Given the description of an element on the screen output the (x, y) to click on. 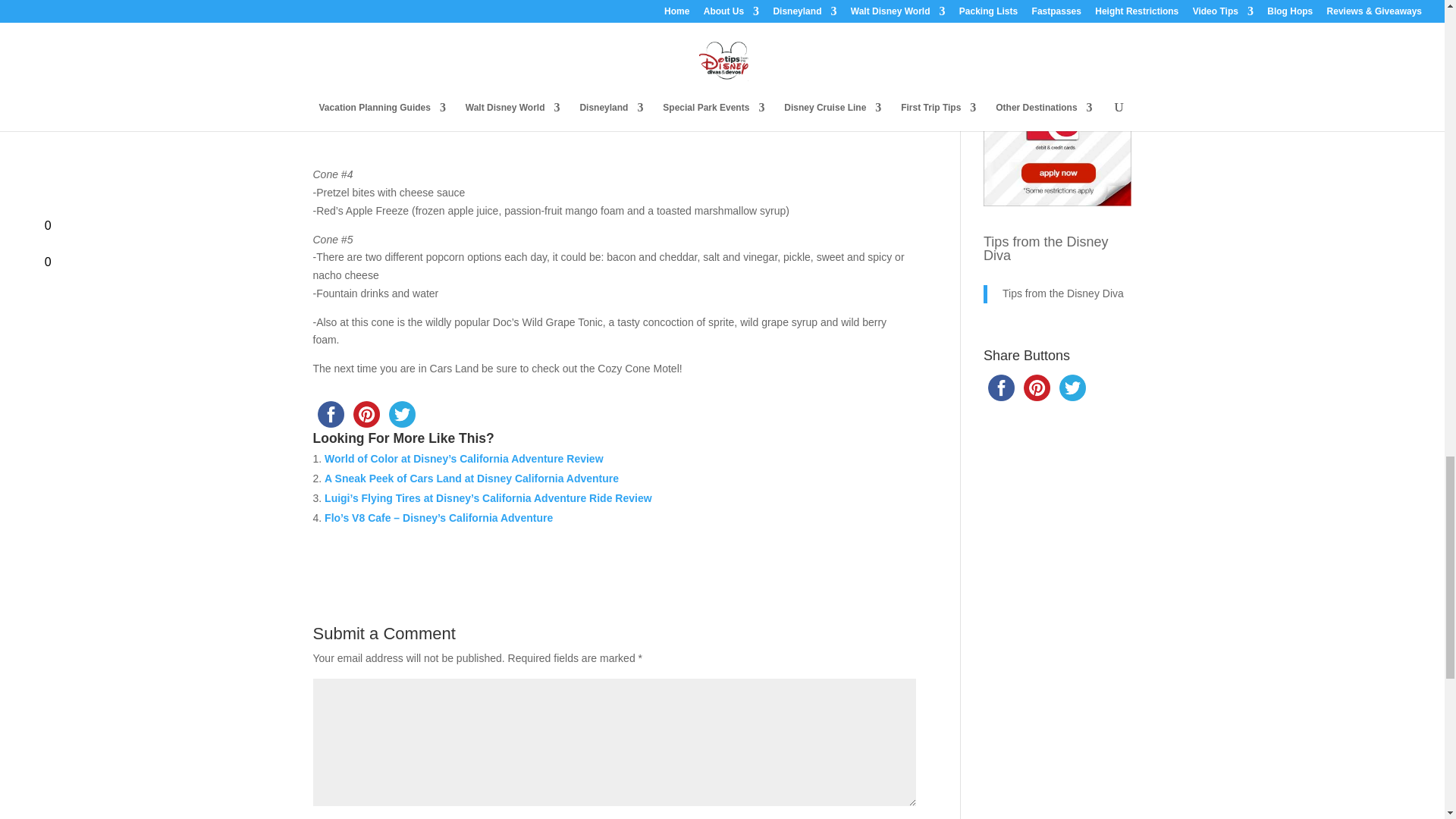
A Sneak Peek of Cars Land at Disney California Adventure (471, 478)
facebook (330, 414)
pinterest (366, 414)
twitter (401, 414)
